Given the description of an element on the screen output the (x, y) to click on. 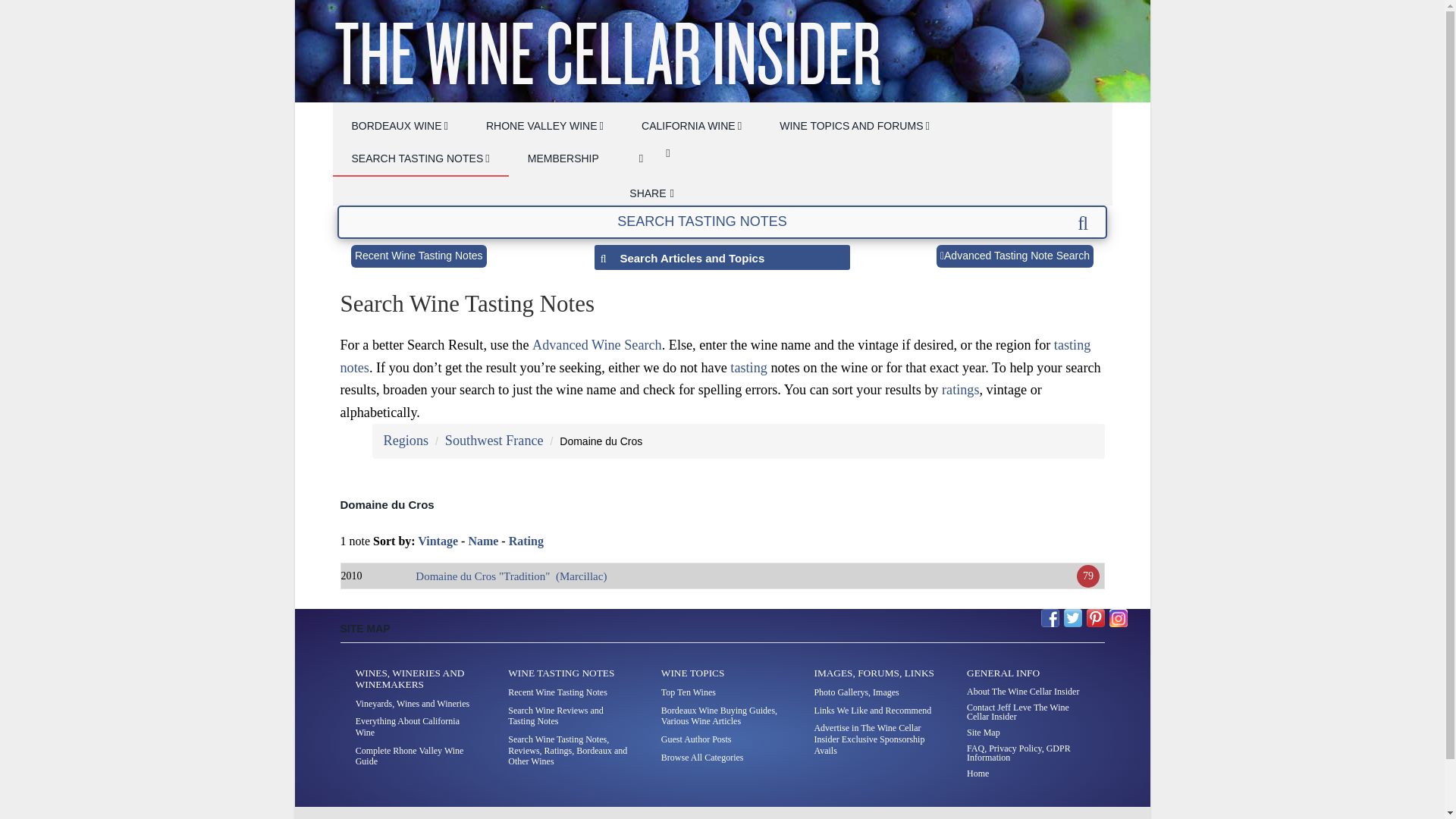
Our board on Pinterest (1094, 618)
Follow us on Twitter (1072, 618)
Recent Wine Tasting Notes (418, 255)
MEMBERSHIP (562, 159)
Follow us on Facebook (1050, 618)
SHARE (651, 192)
CALIFORNIA WINE (691, 126)
SEARCH TASTING NOTES (419, 159)
BORDEAUX WINE (399, 126)
WINE TOPICS AND FORUMS (854, 126)
